Given the description of an element on the screen output the (x, y) to click on. 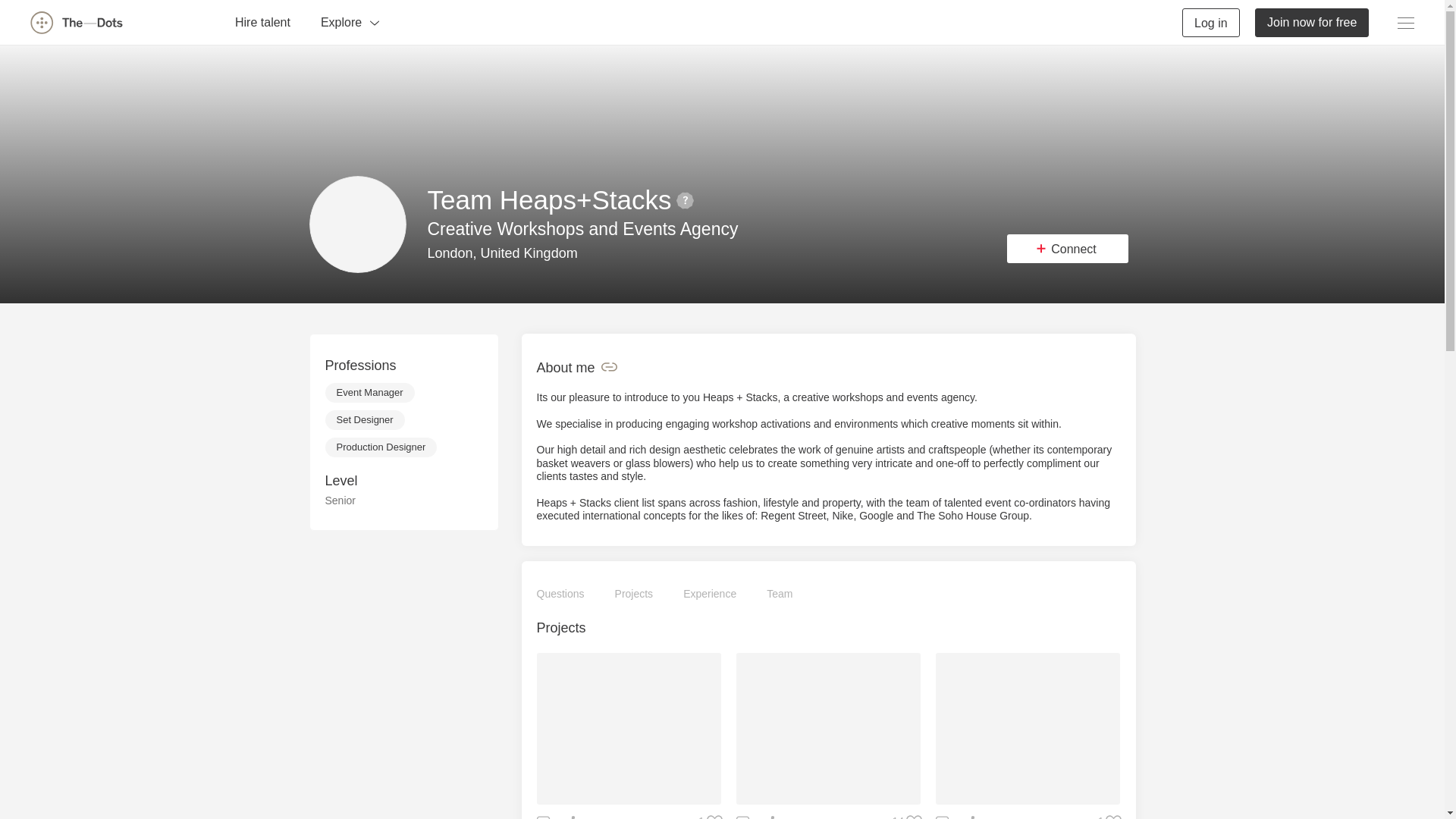
Projects (633, 593)
Team (779, 593)
Explore (350, 21)
Questions (561, 593)
Log in (1211, 21)
Connect (1067, 248)
Join now for free (1311, 21)
Hire talent (261, 21)
Experience (709, 593)
